Given the description of an element on the screen output the (x, y) to click on. 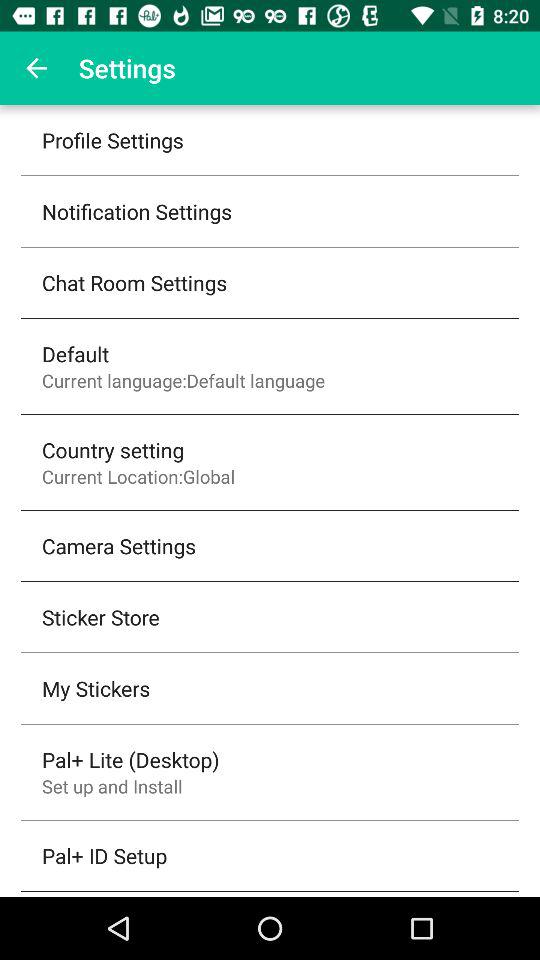
tap the item above the profile settings icon (36, 68)
